Given the description of an element on the screen output the (x, y) to click on. 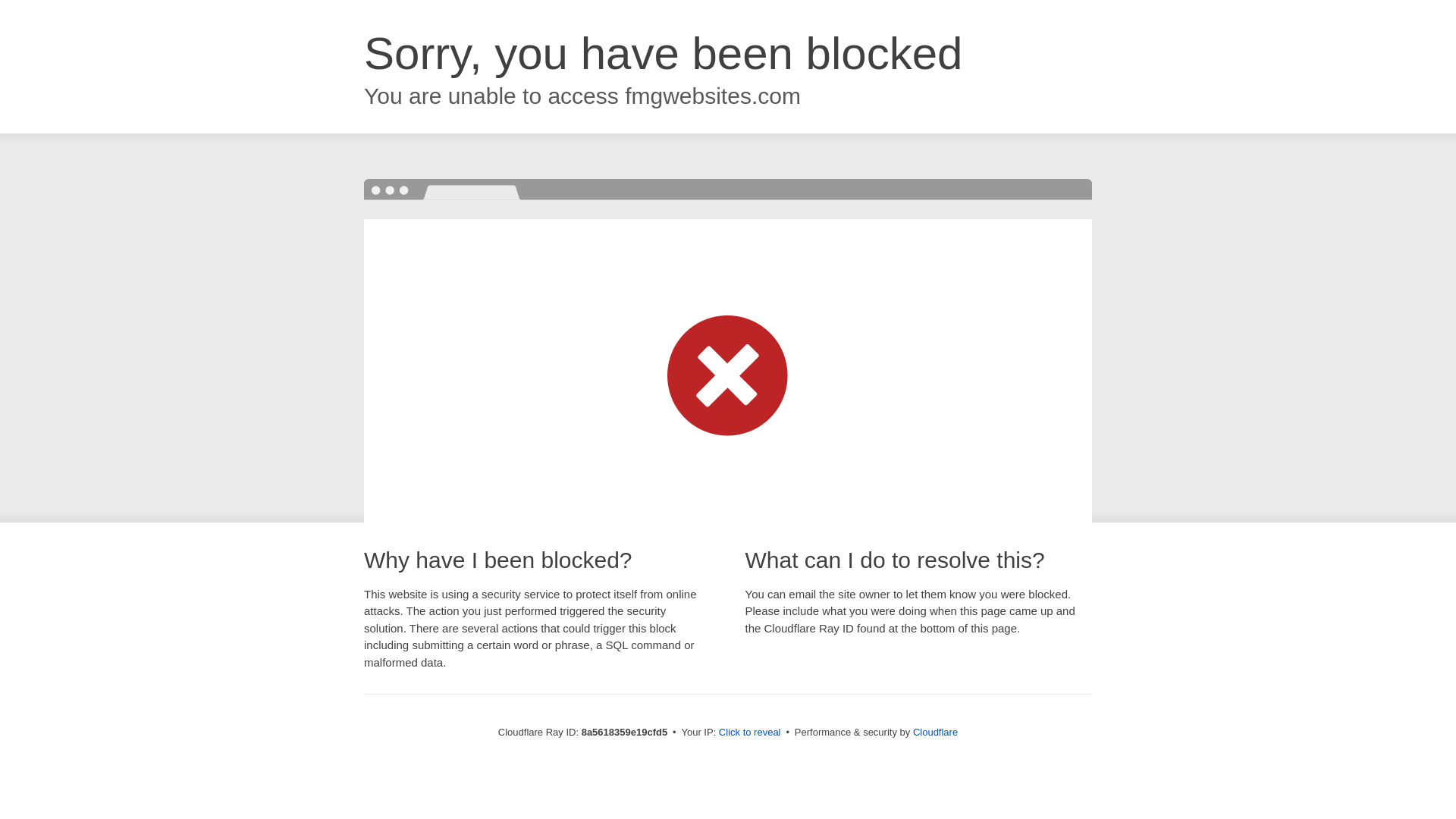
Cloudflare (935, 731)
Click to reveal (749, 732)
